Given the description of an element on the screen output the (x, y) to click on. 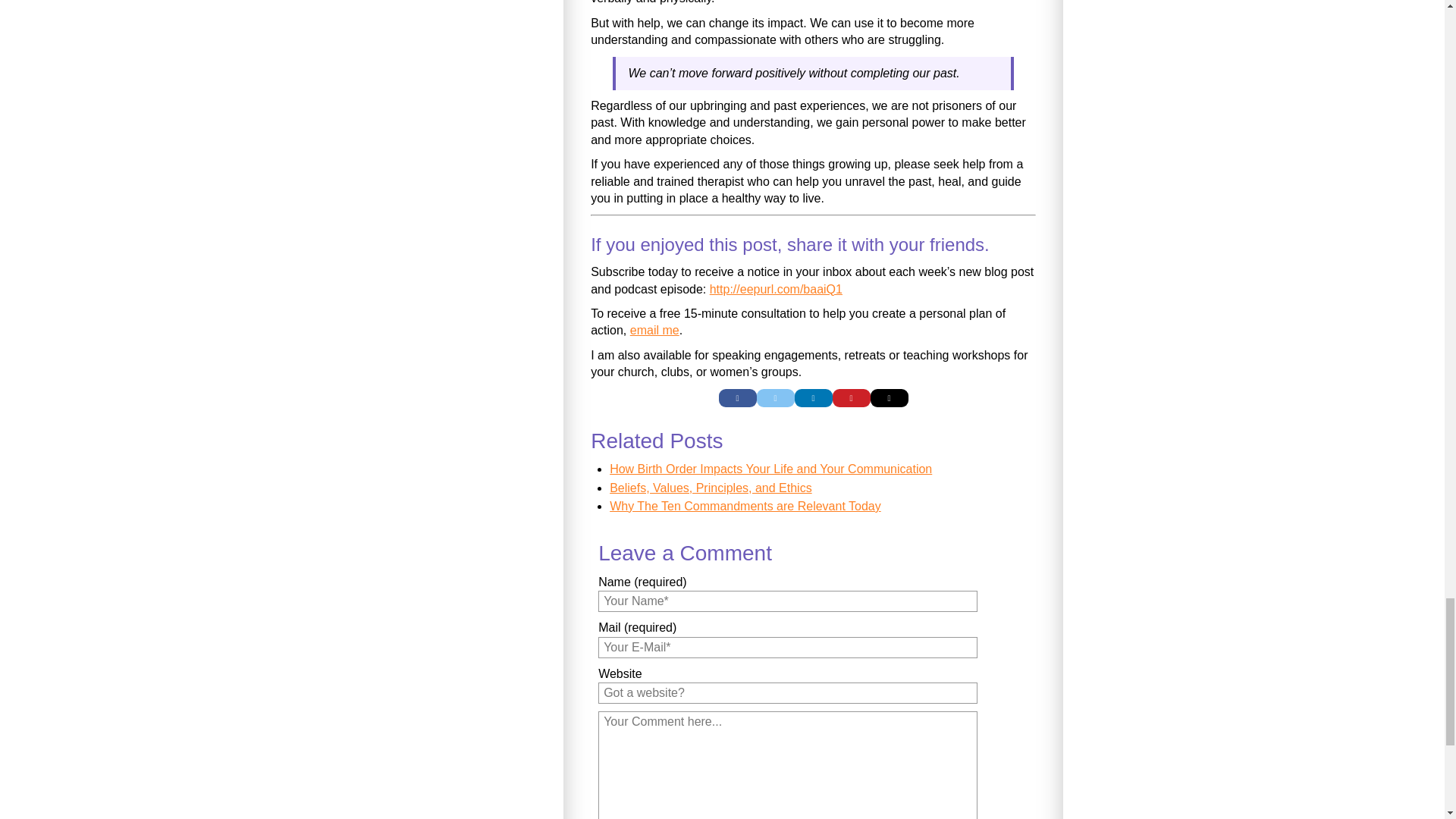
Beliefs, Values, Principles, and Ethics (711, 487)
How Birth Order Impacts Your Life and Your Communication (770, 468)
How Birth Order Impacts Your Life and Your Communication (770, 468)
Why The Ten Commandments are Relevant Today (745, 505)
Why The Ten Commandments are Relevant Today (745, 505)
Beliefs, Values, Principles, and Ethics (711, 487)
email me (654, 329)
